Given the description of an element on the screen output the (x, y) to click on. 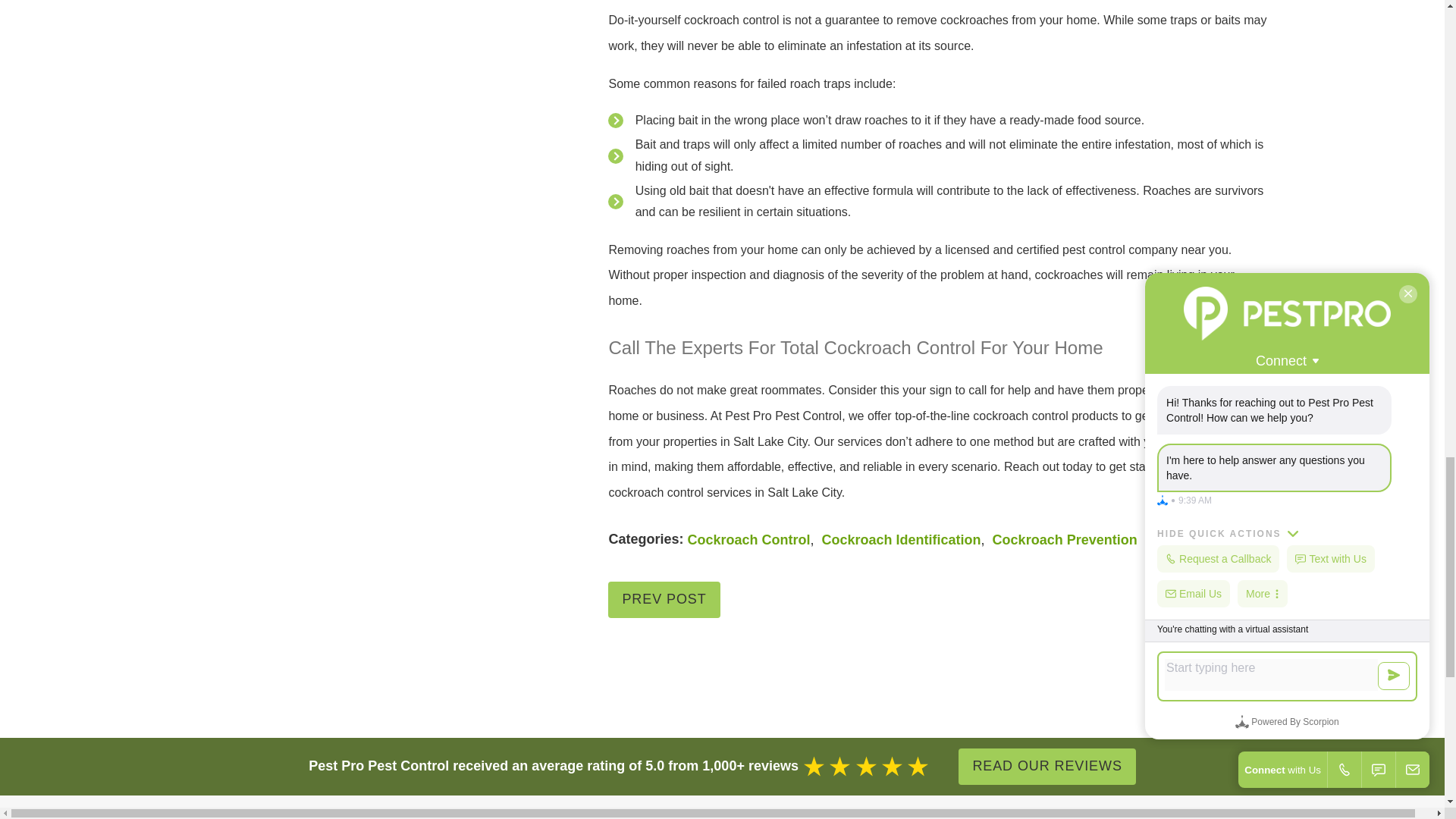
Star Rating (865, 765)
